Given the description of an element on the screen output the (x, y) to click on. 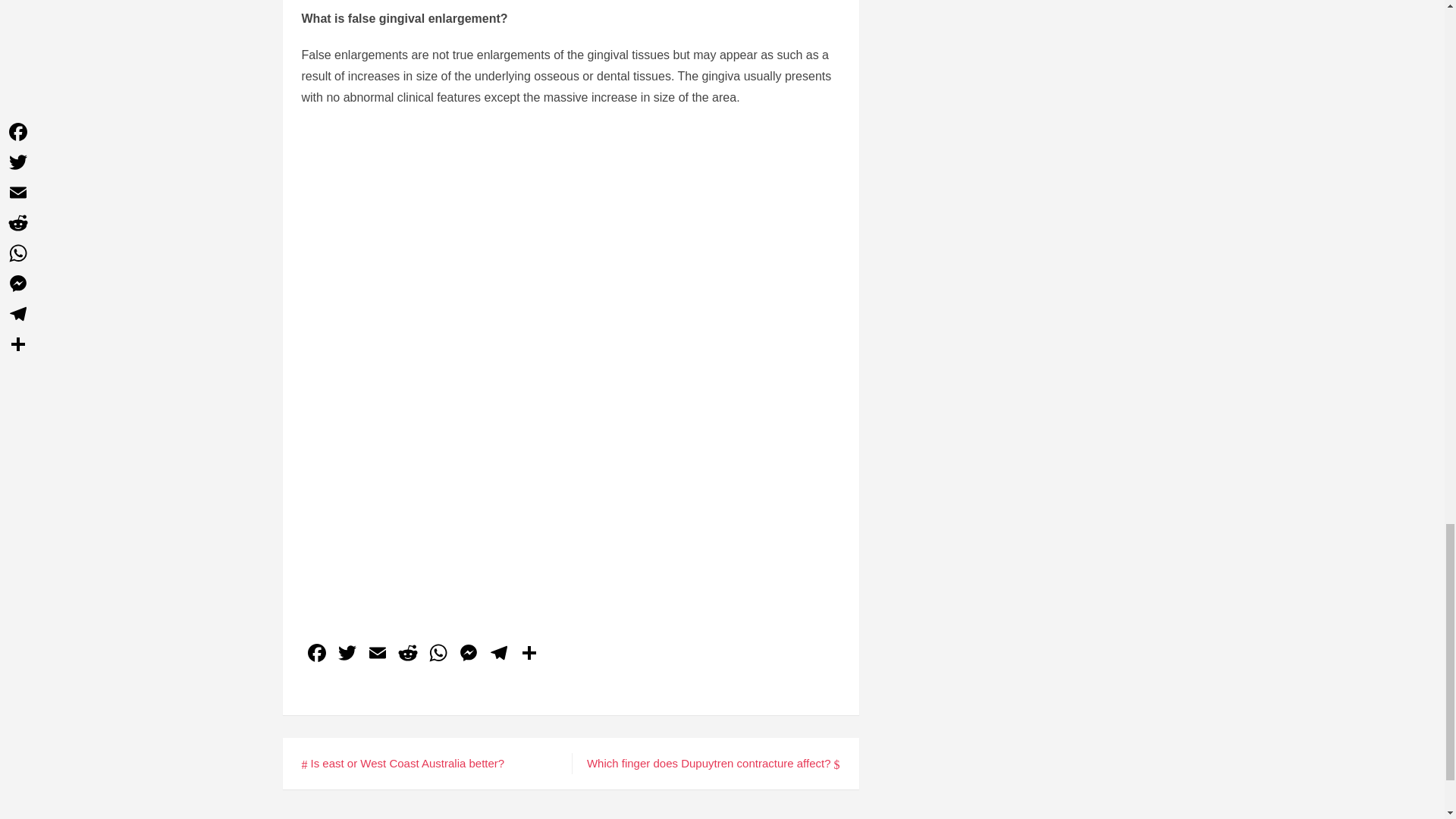
Facebook (316, 654)
Share (528, 654)
Is east or West Coast Australia better? (403, 762)
Telegram (498, 654)
WhatsApp (437, 654)
Messenger (467, 654)
Facebook (316, 654)
Email (377, 654)
Telegram (498, 654)
Twitter (346, 654)
Reddit (408, 654)
Twitter (346, 654)
Reddit (408, 654)
WhatsApp (437, 654)
